Given the description of an element on the screen output the (x, y) to click on. 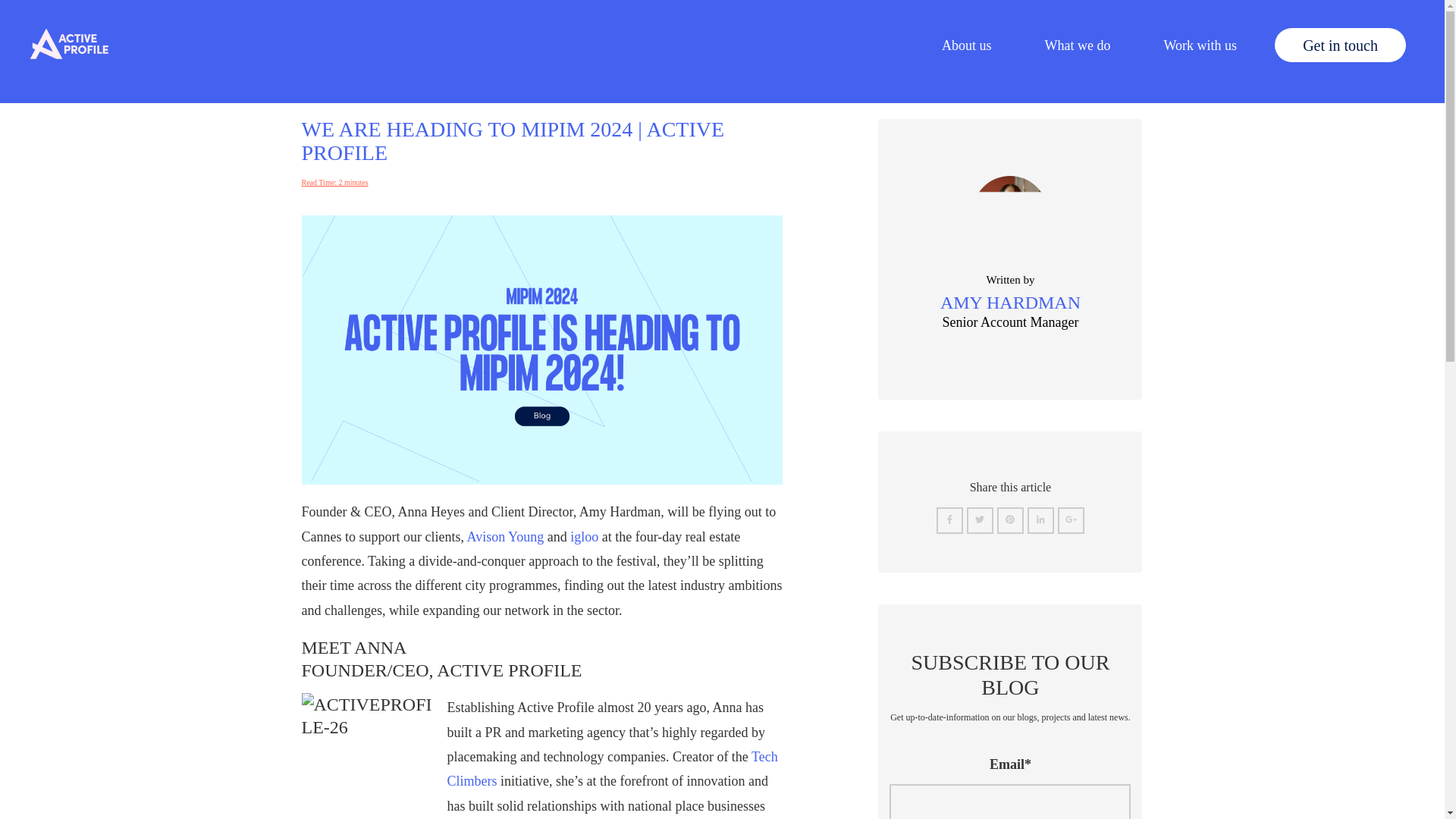
Avison Young (504, 536)
About us (966, 44)
igloo (584, 536)
Tech Climbers (611, 768)
Get in touch (1340, 44)
What we do (1077, 44)
Work with us (1200, 44)
